Given the description of an element on the screen output the (x, y) to click on. 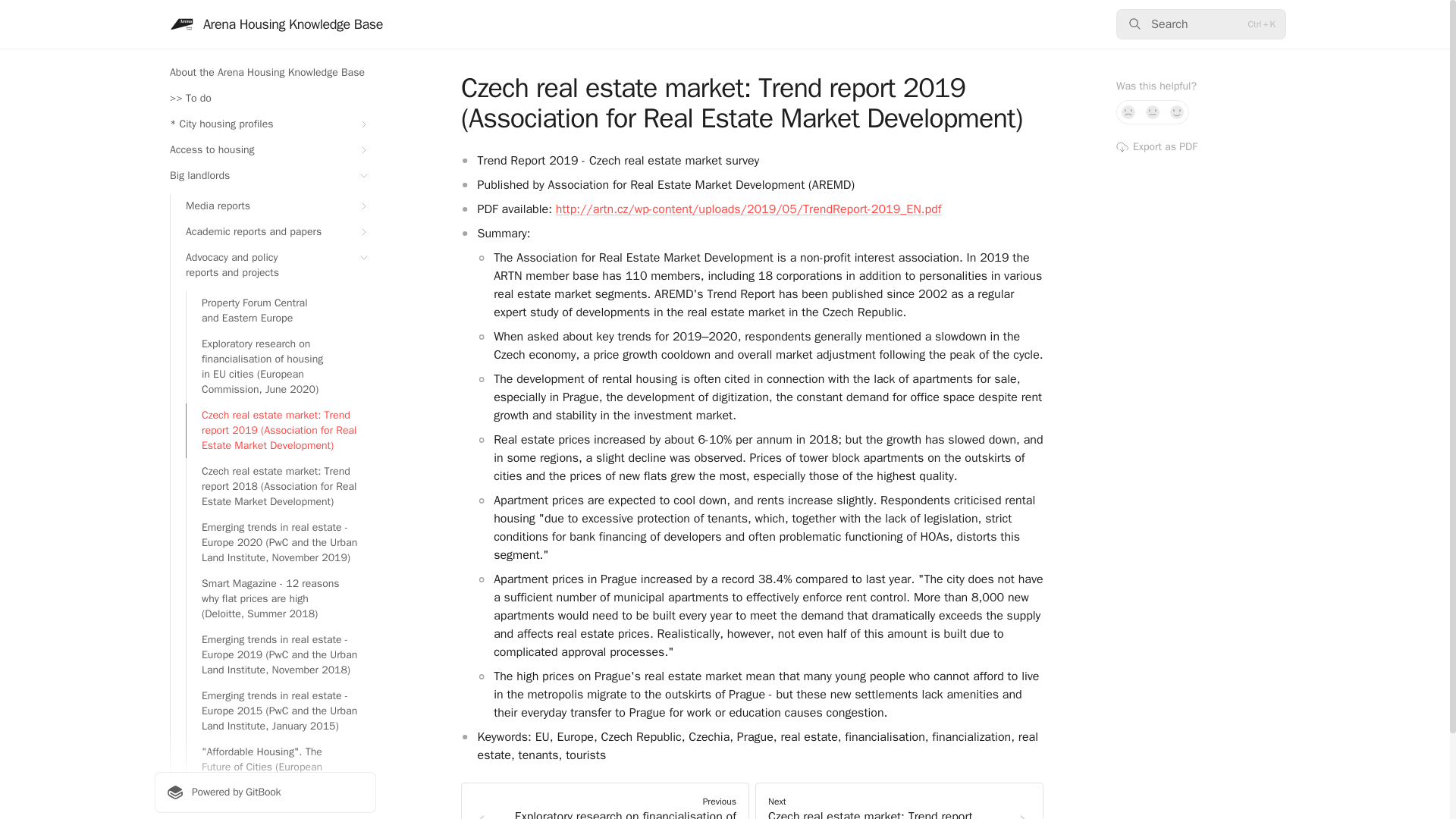
Not sure (1152, 111)
Yes, it was! (1176, 111)
About the Arena Housing Knowledge Base (264, 72)
No (1128, 111)
Arena Housing Knowledge Base (276, 24)
Access to housing (264, 150)
